Given the description of an element on the screen output the (x, y) to click on. 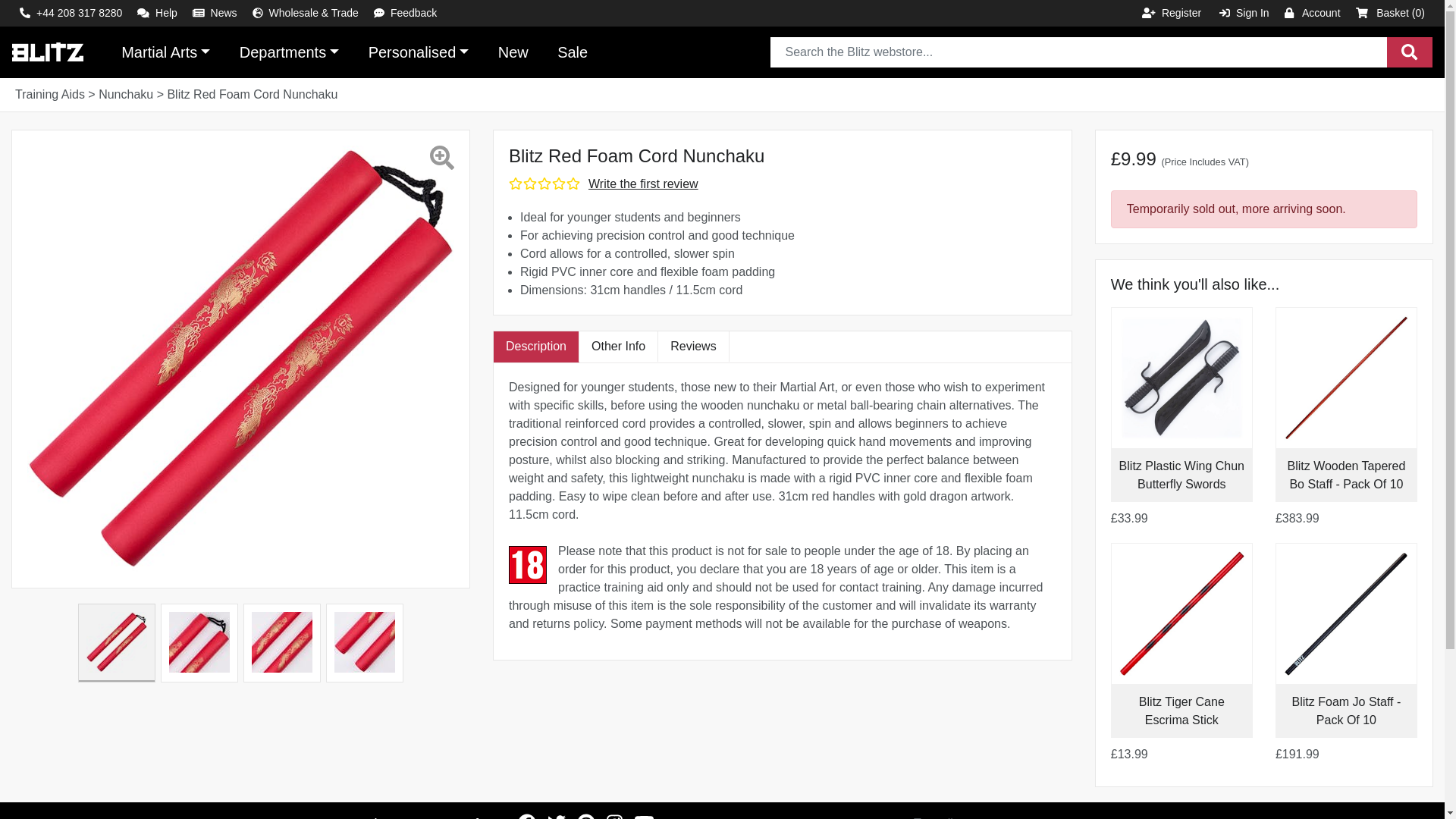
Blitz Wooden Tapered Bo Staff - Pack Of 10 (1346, 474)
Blitz Plastic Wing Chun Butterfly Swords (1181, 474)
Blitz Red Foam Cord Nunchaku - Detail 3 (364, 642)
Help (156, 13)
Blitz Red Foam Cord Nunchaku - Detail 2 (281, 642)
Feedback (405, 13)
Blitz Tiger Cane Escrima Stick (1181, 710)
Register (1171, 13)
Blitz Foam Jo Staff - Pack Of 10 (1346, 710)
Blitz Red Foam Cord Nunchaku - Detail 1 (199, 642)
